Given the description of an element on the screen output the (x, y) to click on. 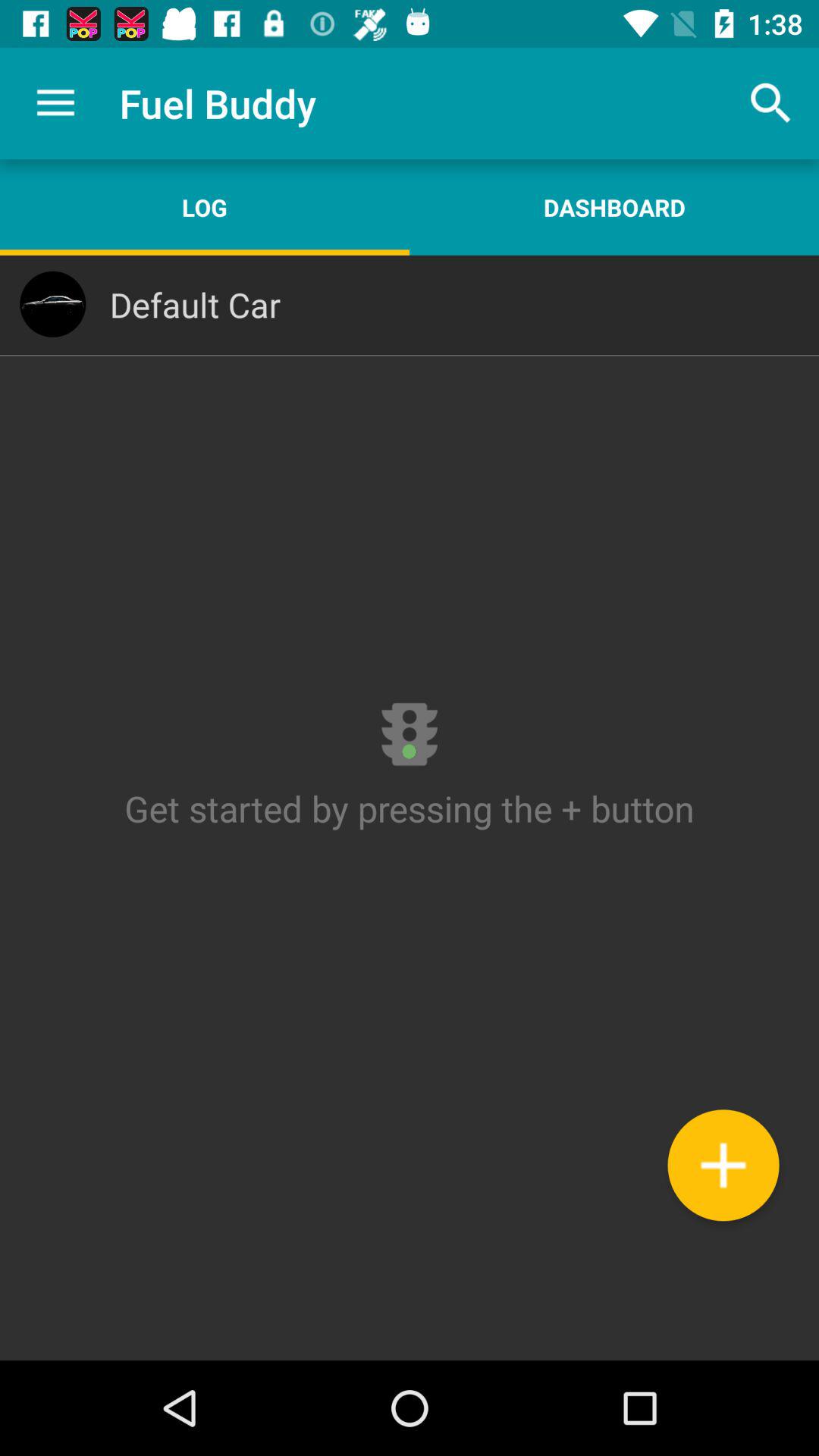
tap the icon below get started by (723, 1165)
